Given the description of an element on the screen output the (x, y) to click on. 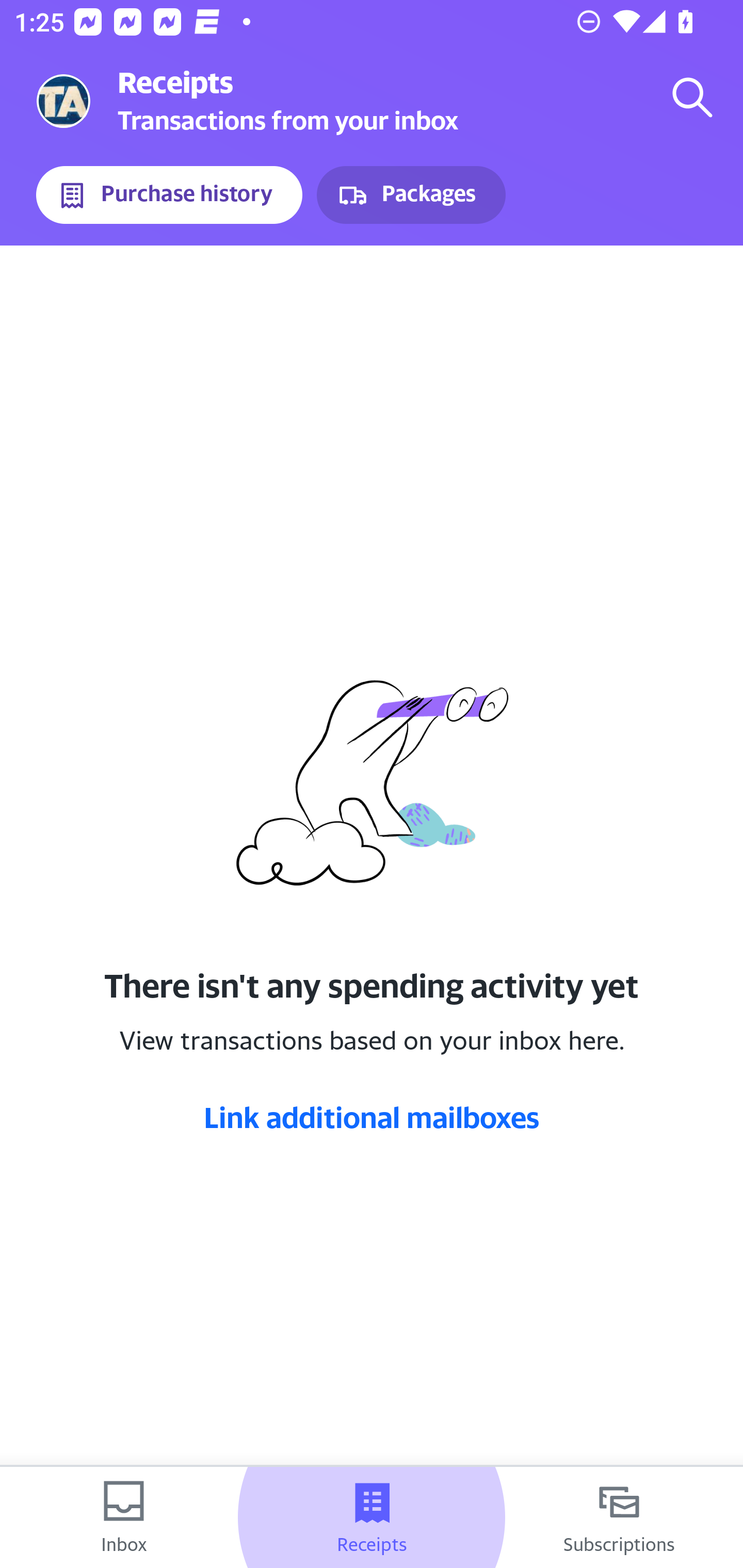
Search mail (692, 97)
Packages (410, 195)
Link additional mailboxes (371, 1117)
Inbox (123, 1517)
Receipts (371, 1517)
Subscriptions (619, 1517)
